Given the description of an element on the screen output the (x, y) to click on. 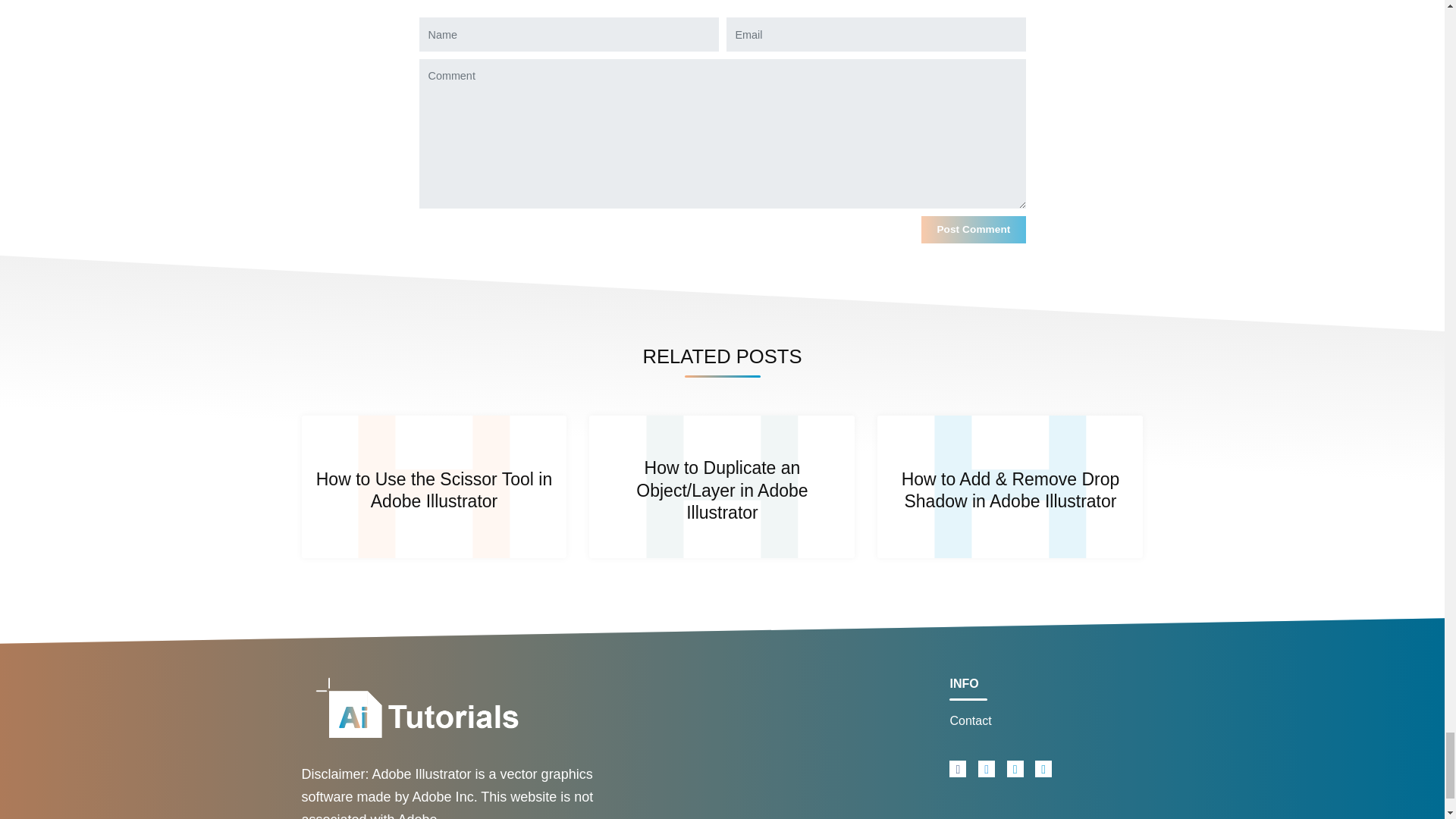
Facebook (957, 768)
Post Comment (973, 229)
Instagram (1015, 768)
Post Comment (973, 229)
Pinterest (1043, 768)
Twitter (986, 768)
Contact (1045, 720)
